Given the description of an element on the screen output the (x, y) to click on. 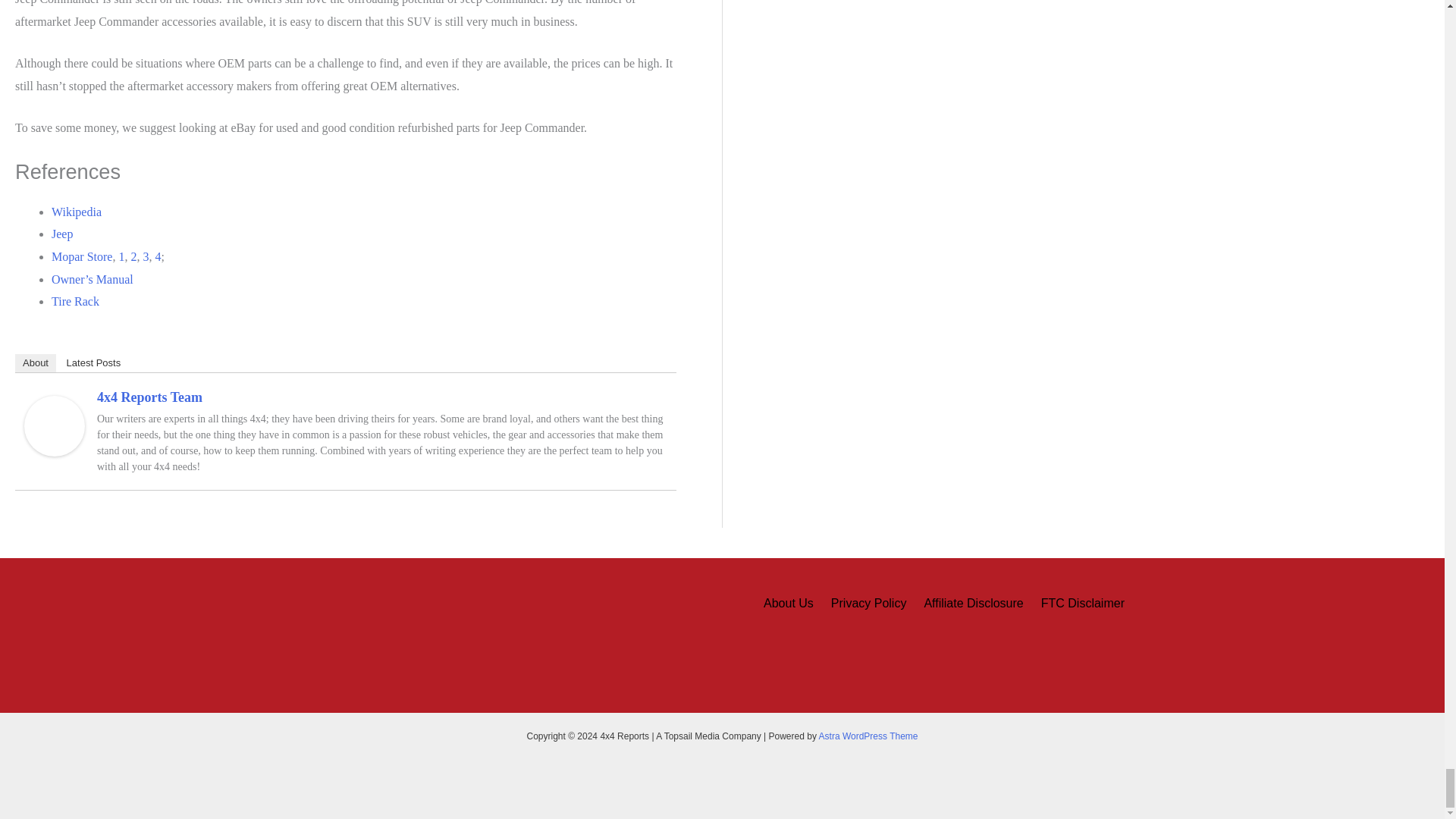
4x4 Reports Team (54, 424)
